Given the description of an element on the screen output the (x, y) to click on. 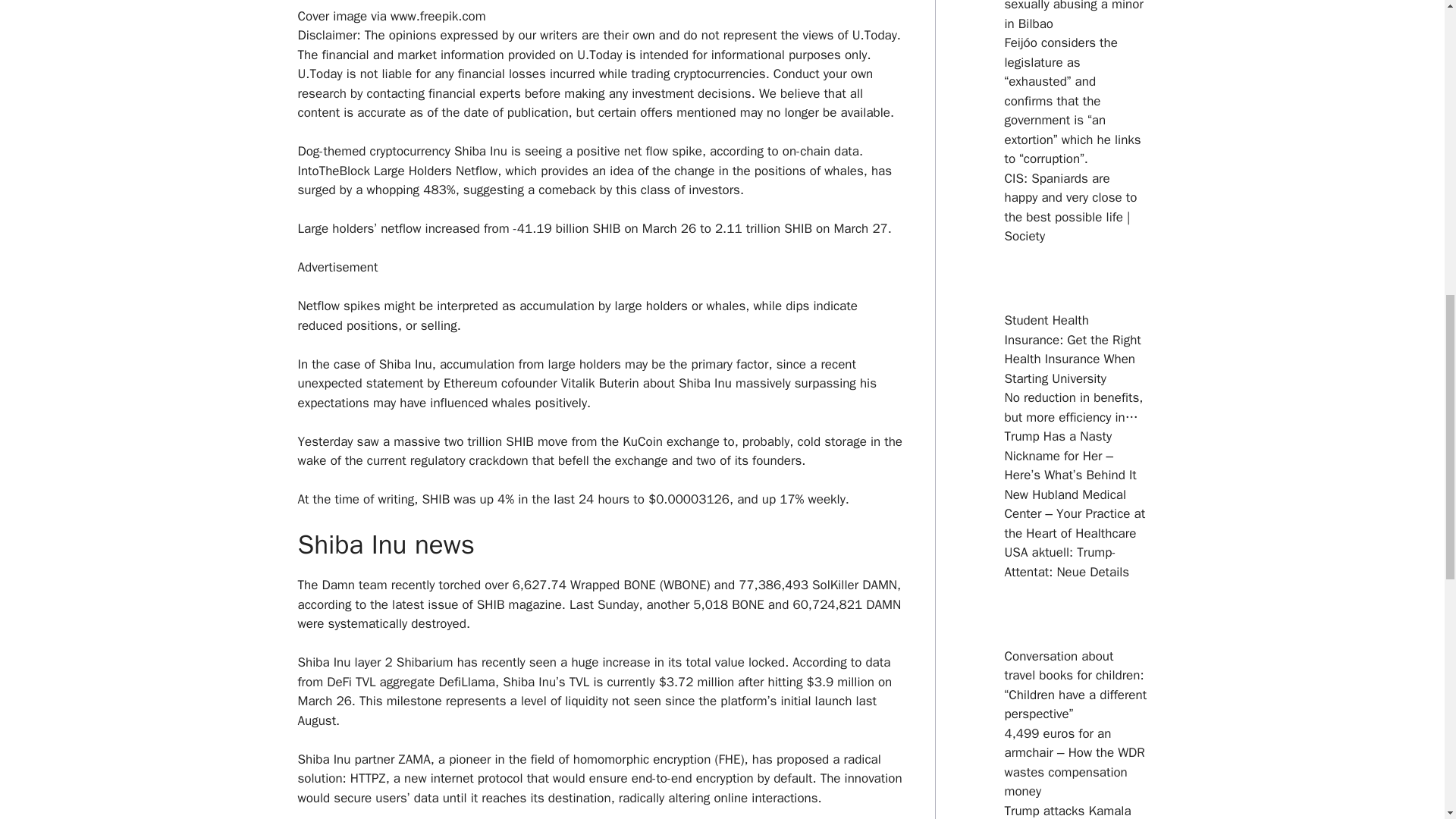
USA aktuell: Trump-Attentat: Neue Details (1066, 561)
